Given the description of an element on the screen output the (x, y) to click on. 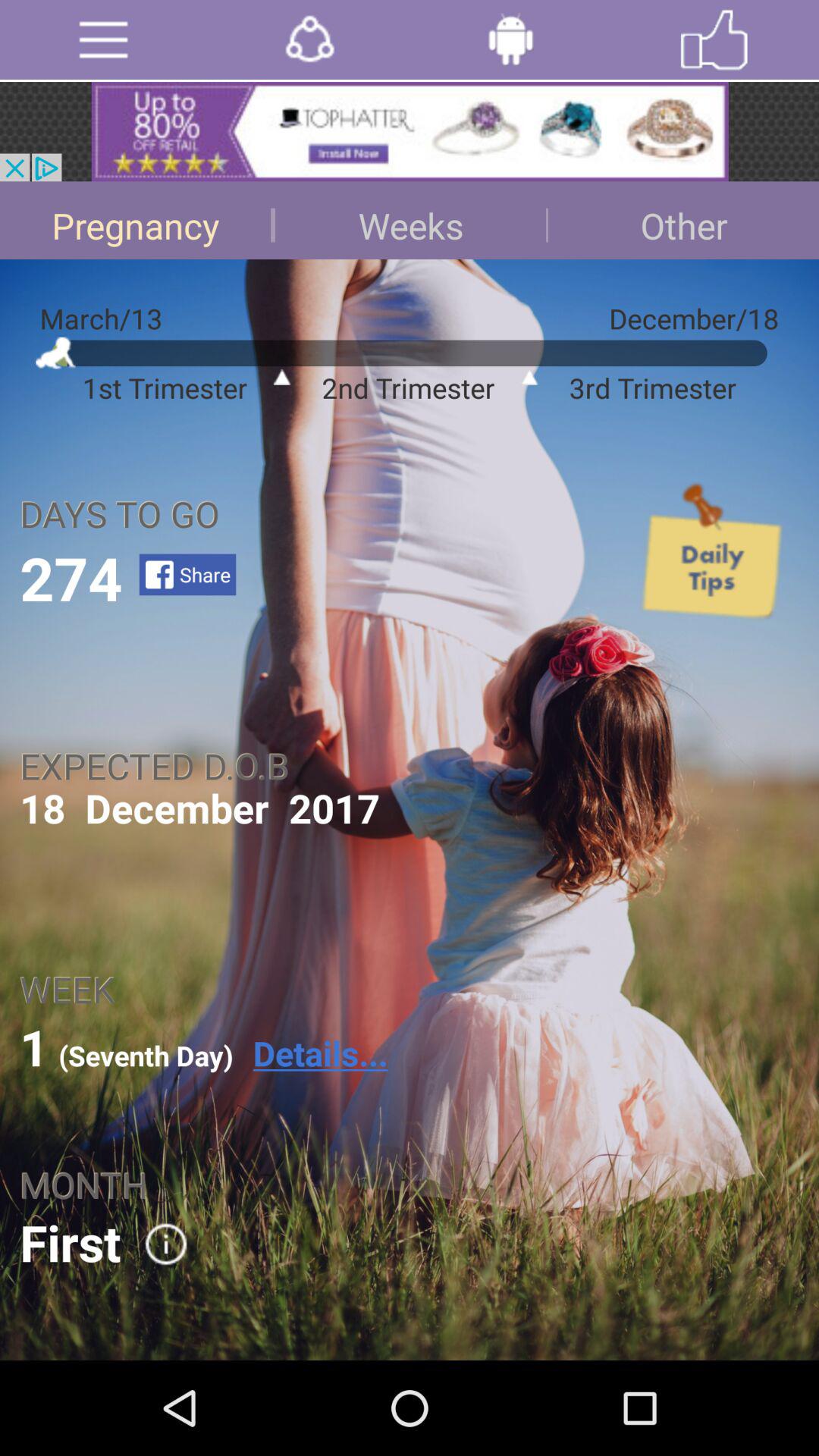
logan (510, 39)
